Given the description of an element on the screen output the (x, y) to click on. 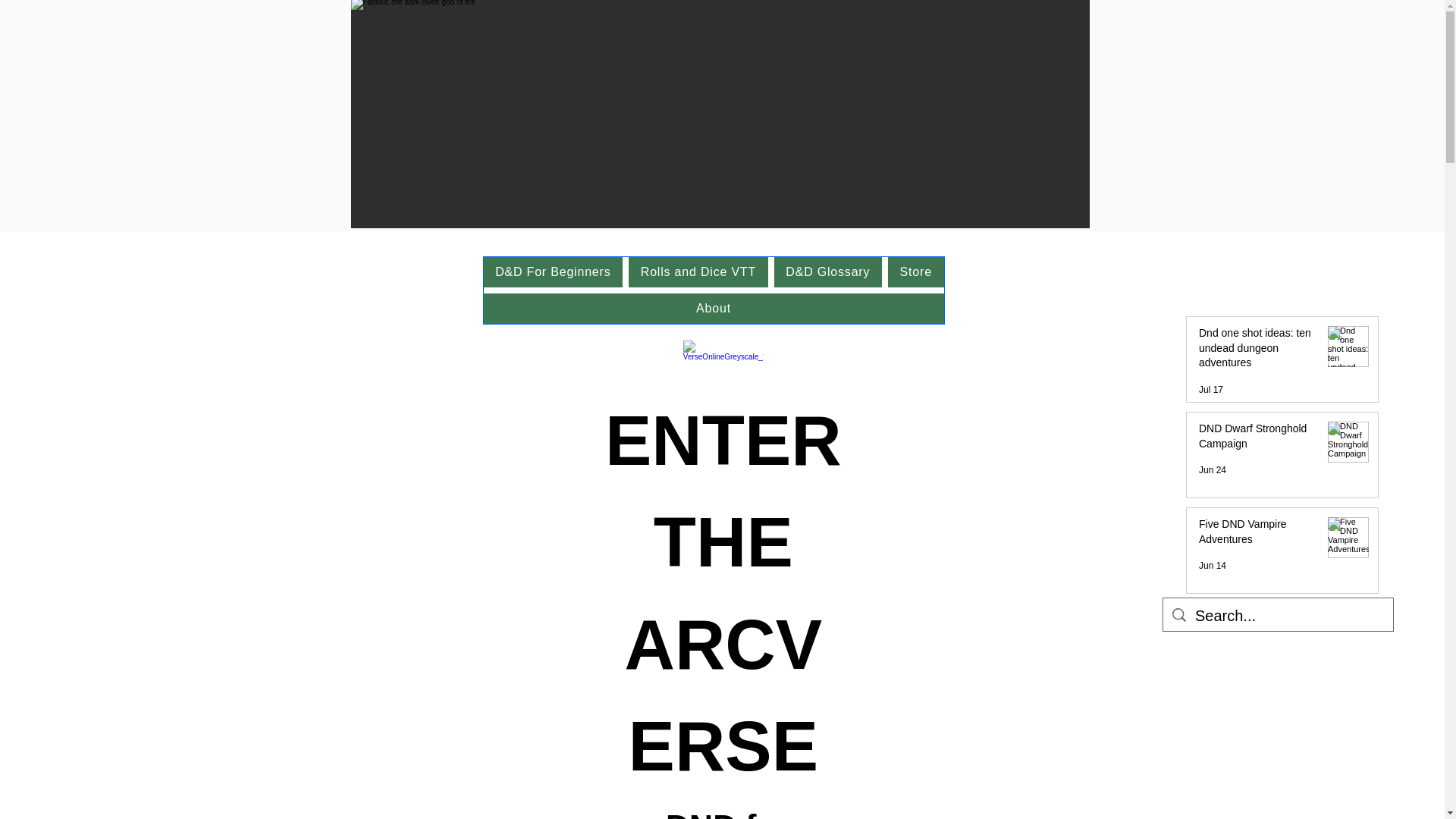
Dnd one shot ideas: ten undead dungeon adventures (1257, 350)
Rolls and Dice VTT (698, 272)
About (713, 308)
Jul 17 (1210, 389)
Jun 14 (1211, 565)
DND Dwarf Stronghold Campaign (1257, 439)
Jun 24 (1211, 470)
Five DND Vampire Adventures (1257, 534)
Store (915, 272)
ENTER THE ARCVERSE (723, 593)
